Given the description of an element on the screen output the (x, y) to click on. 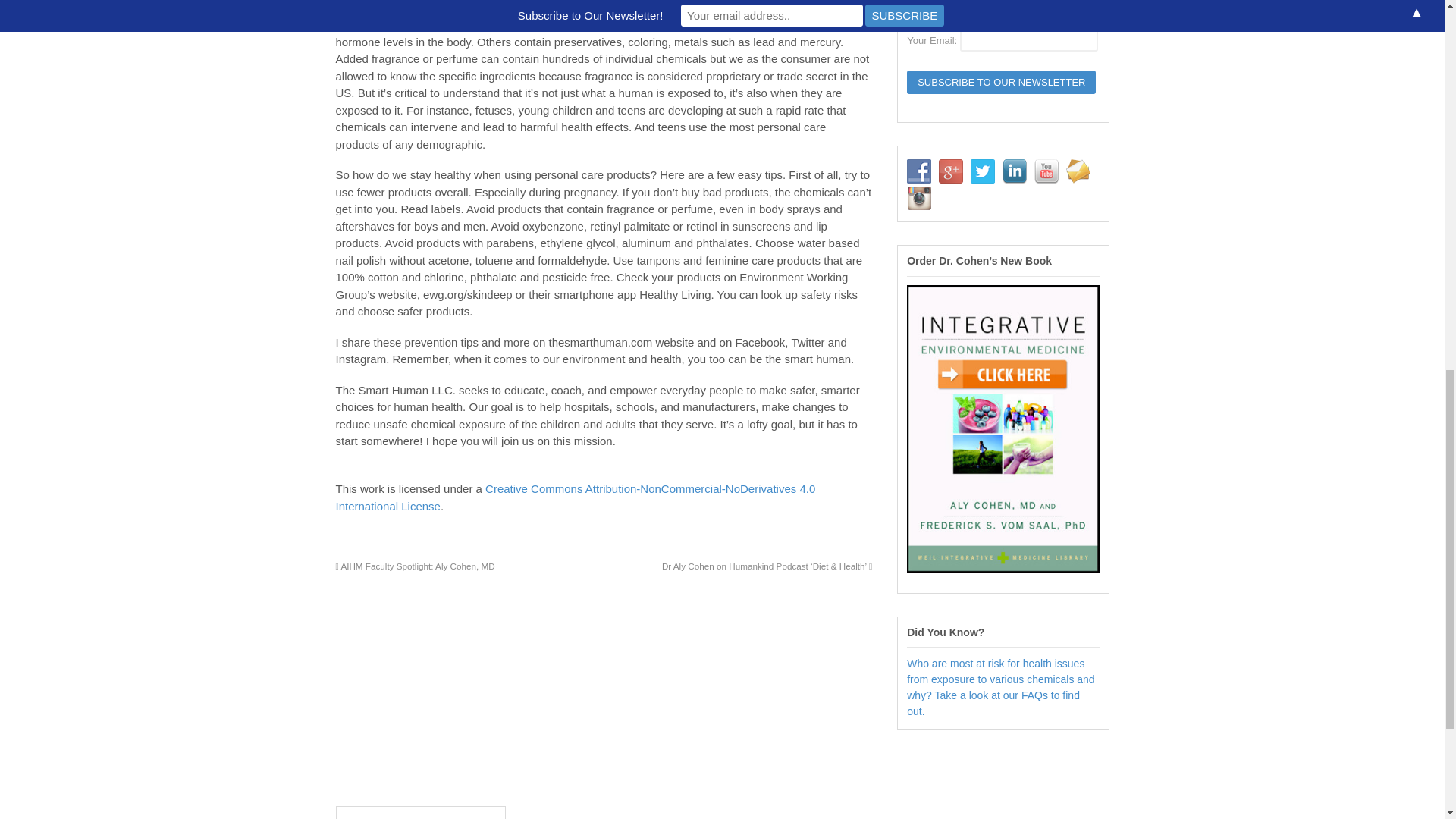
Follow Us on YouTube (1045, 170)
Follow Us on LinkedIn (1014, 170)
Follow Us on Facebook (919, 170)
AIHM Faculty Spotlight: Aly Cohen, MD (414, 565)
Follow Us on Instagram (919, 197)
Follow Us on Twitter (982, 170)
Subscribe to our Newsletter (1001, 82)
Follow Us on E-mail (1077, 170)
